Given the description of an element on the screen output the (x, y) to click on. 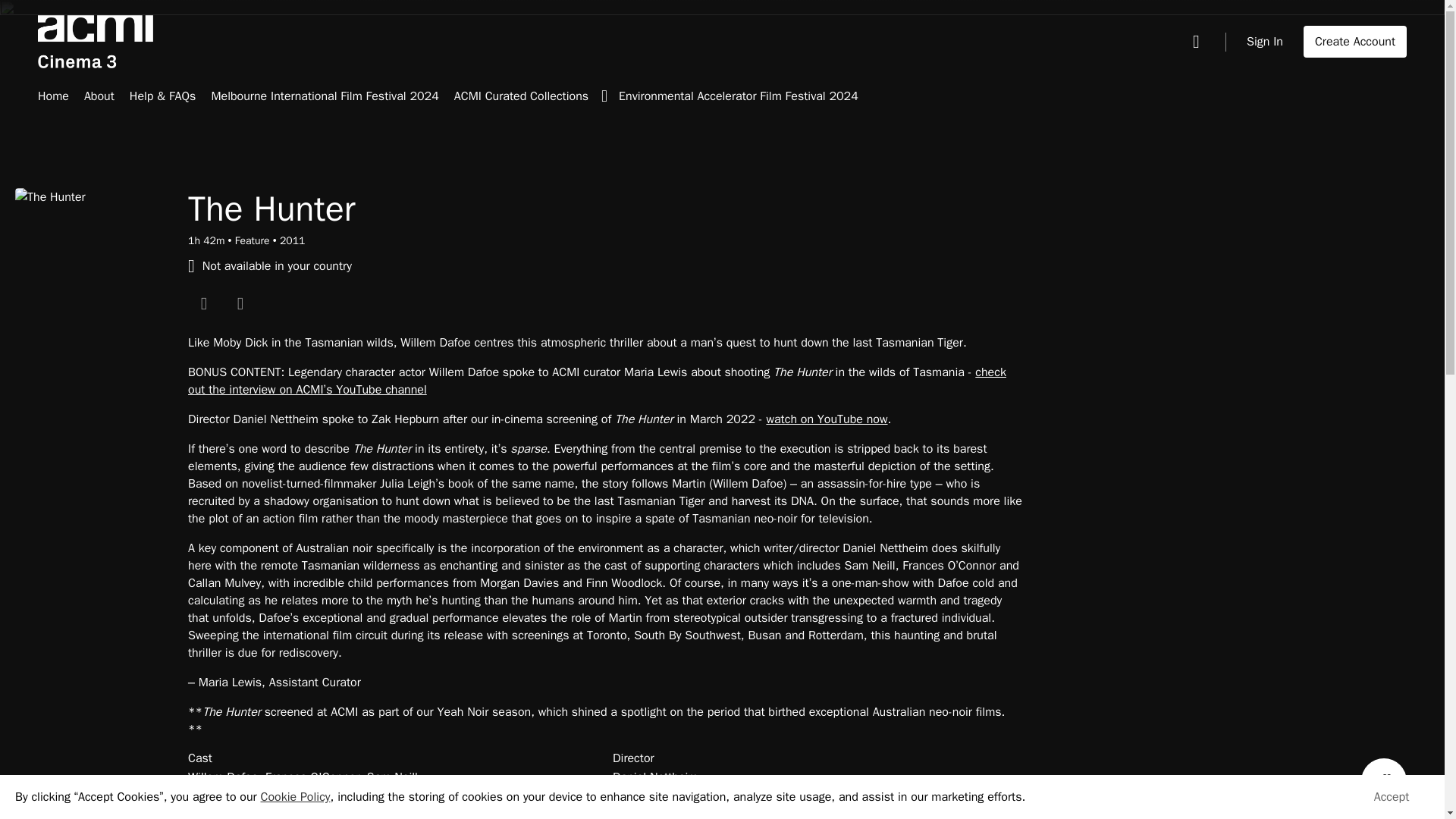
Sam Neill (391, 776)
Frances O'Connor (311, 776)
Environmental Accelerator Film Festival 2024 (738, 97)
Cookie Policy (295, 796)
Accept (1391, 796)
Willem Dafoe (222, 776)
Create Account (1354, 41)
ACMI Curated Collections (536, 97)
Melbourne International Film Festival 2024 (324, 97)
watch on YouTube now (825, 418)
Sign In (1264, 41)
